Given the description of an element on the screen output the (x, y) to click on. 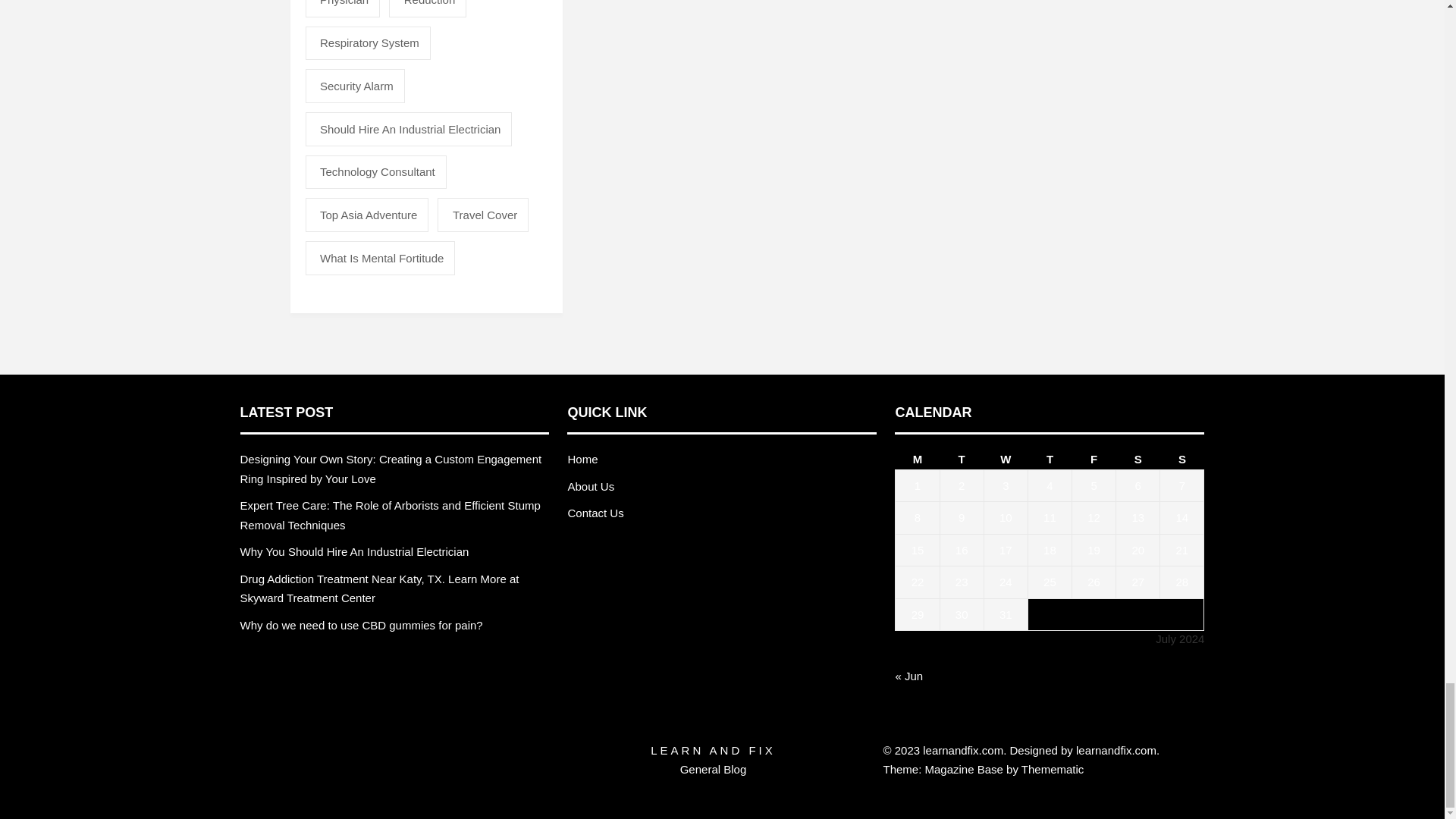
Wednesday (1005, 459)
Tuesday (961, 459)
Saturday (1138, 459)
Thursday (1049, 459)
Friday (1093, 459)
Sunday (1182, 459)
Monday (917, 459)
